Given the description of an element on the screen output the (x, y) to click on. 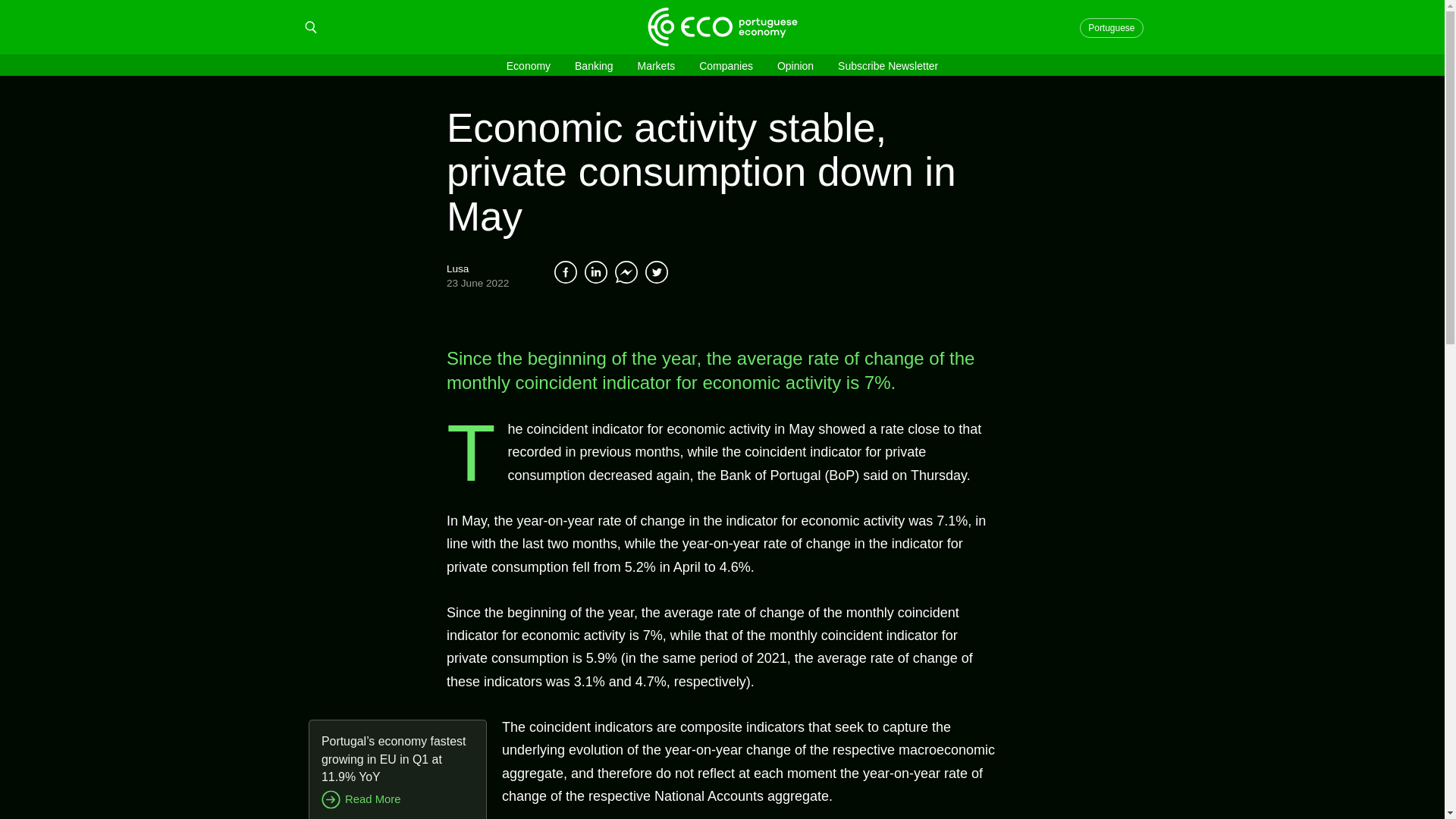
Portuguese Economy News (1113, 26)
Portuguese (1113, 26)
Toggle search form (310, 26)
Companies (725, 65)
Opinion (795, 65)
Economy (528, 65)
Markets (656, 65)
Subscribe Newsletter (887, 65)
Banking (593, 65)
